Given the description of an element on the screen output the (x, y) to click on. 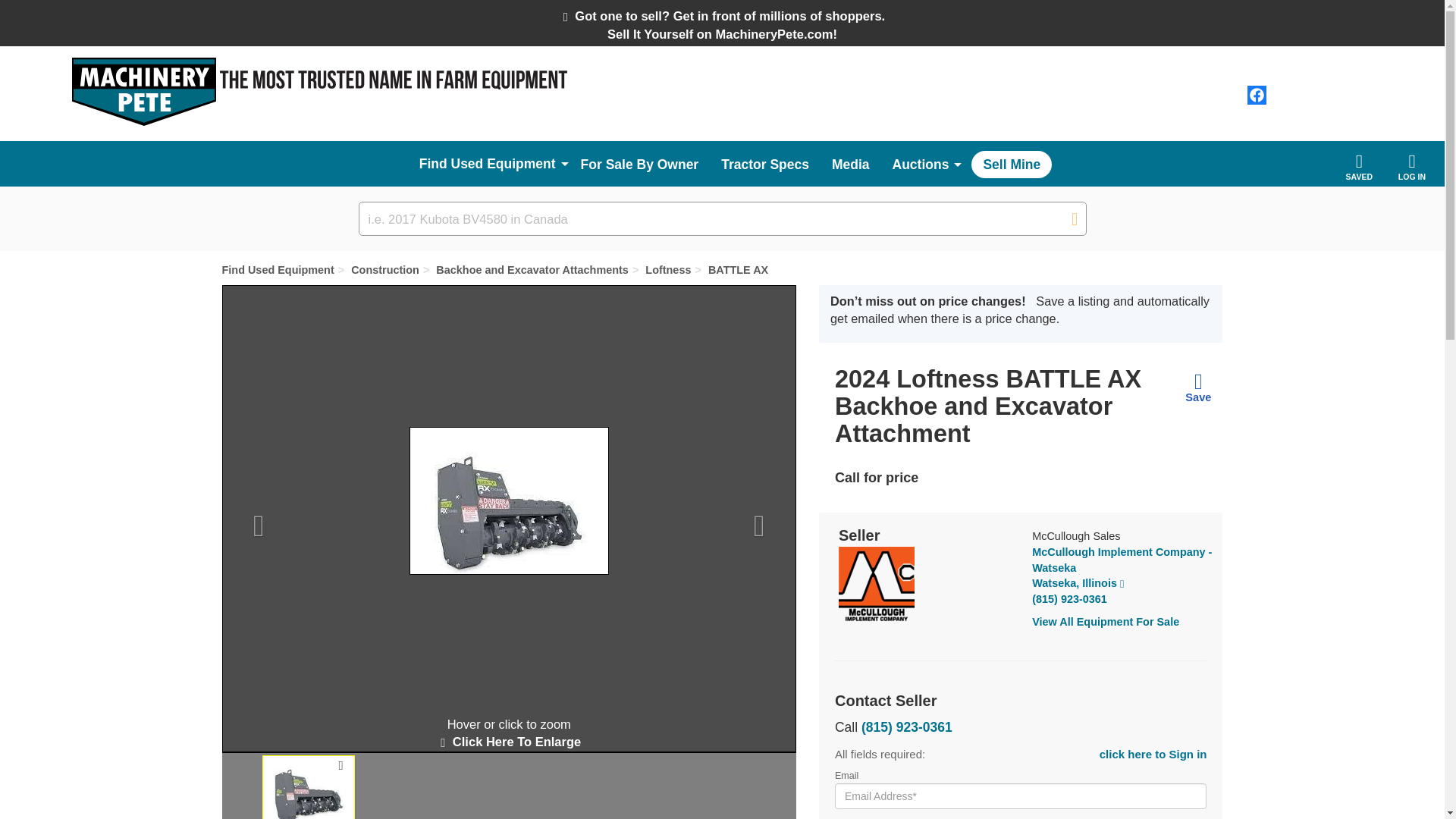
Auctions (920, 165)
For Sale By Owner (639, 158)
Used Equipment (489, 163)
LOG IN (1412, 167)
Tractor Specs (765, 158)
SAVED (1359, 167)
Sell Mine (1011, 164)
Media (850, 158)
